Given the description of an element on the screen output the (x, y) to click on. 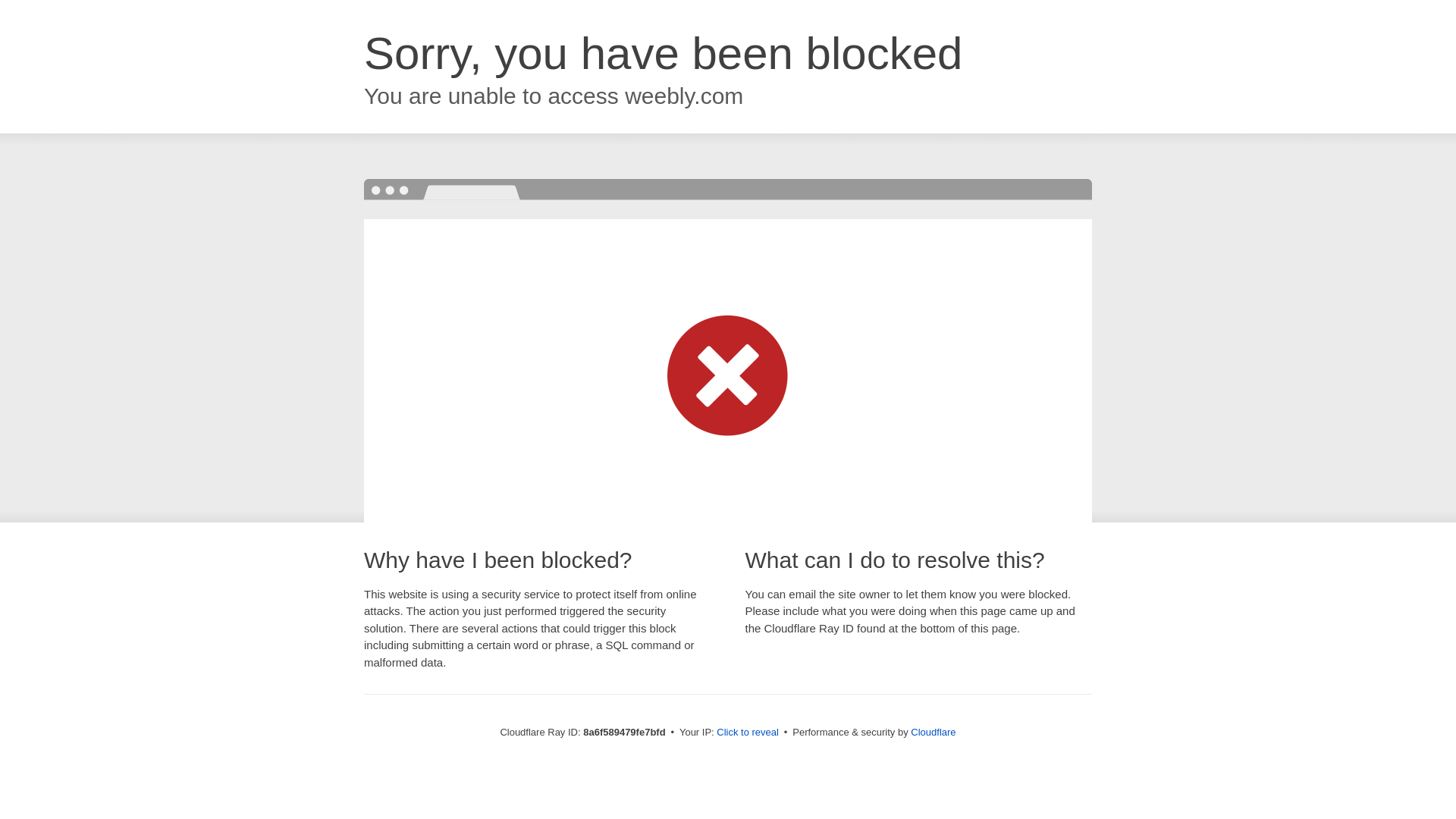
Click to reveal (747, 732)
Cloudflare (933, 731)
